Given the description of an element on the screen output the (x, y) to click on. 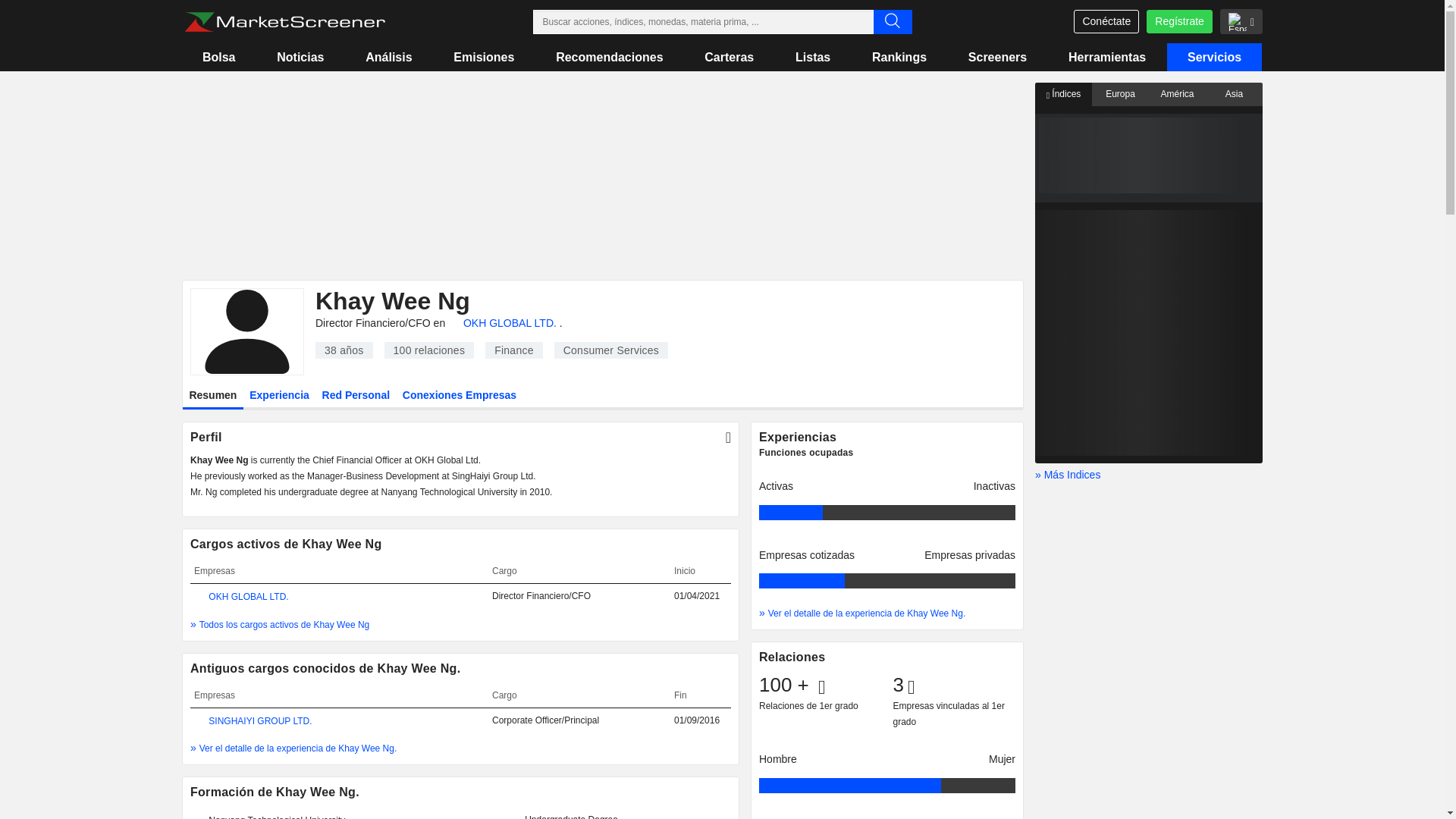
Bolsa (219, 57)
